Given the description of an element on the screen output the (x, y) to click on. 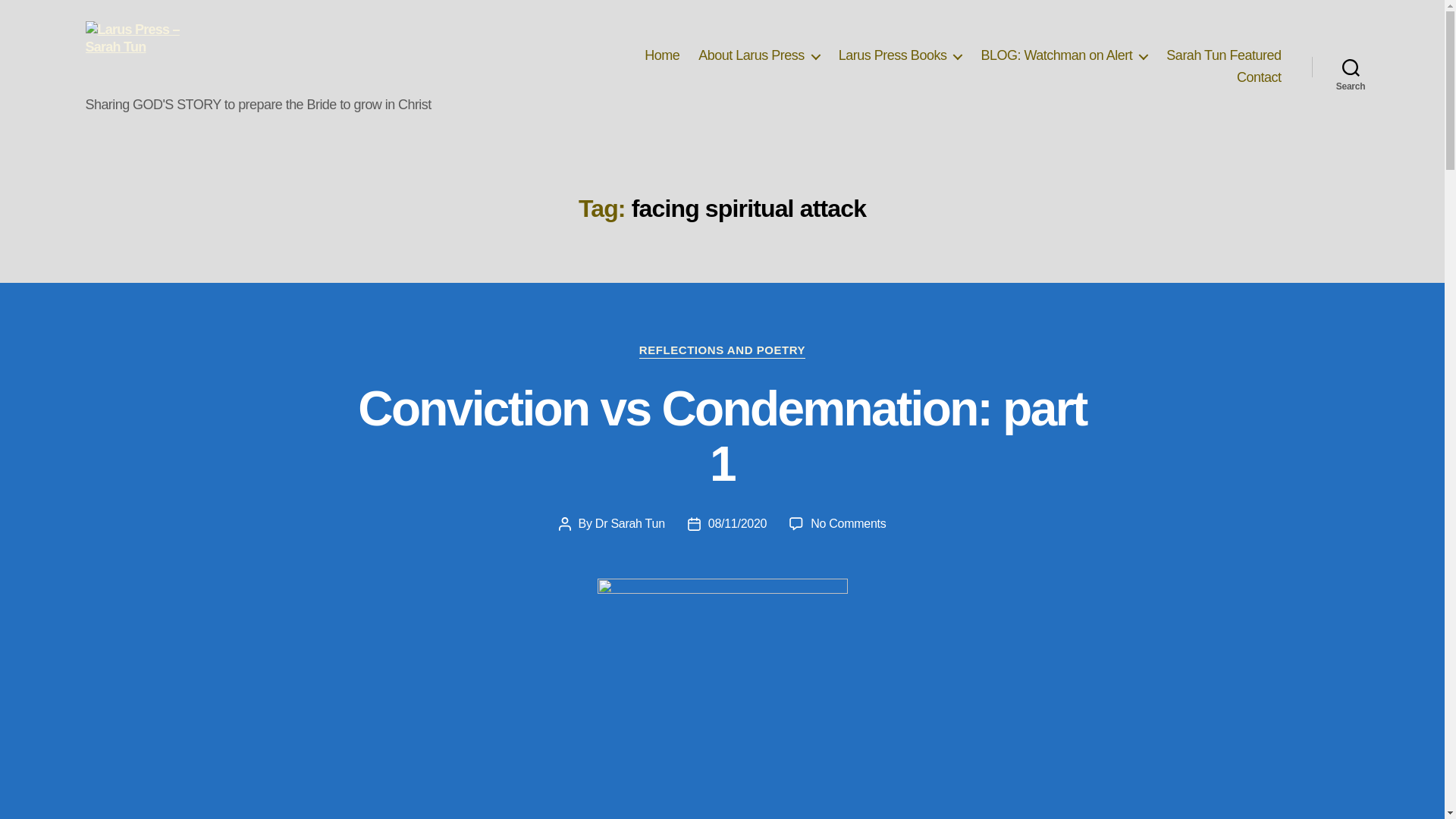
About Larus Press (758, 55)
Home (662, 55)
Larus Press Books (900, 55)
Search (1350, 66)
Contact (1258, 77)
Sarah Tun Featured (1223, 55)
BLOG: Watchman on Alert (1063, 55)
